Given the description of an element on the screen output the (x, y) to click on. 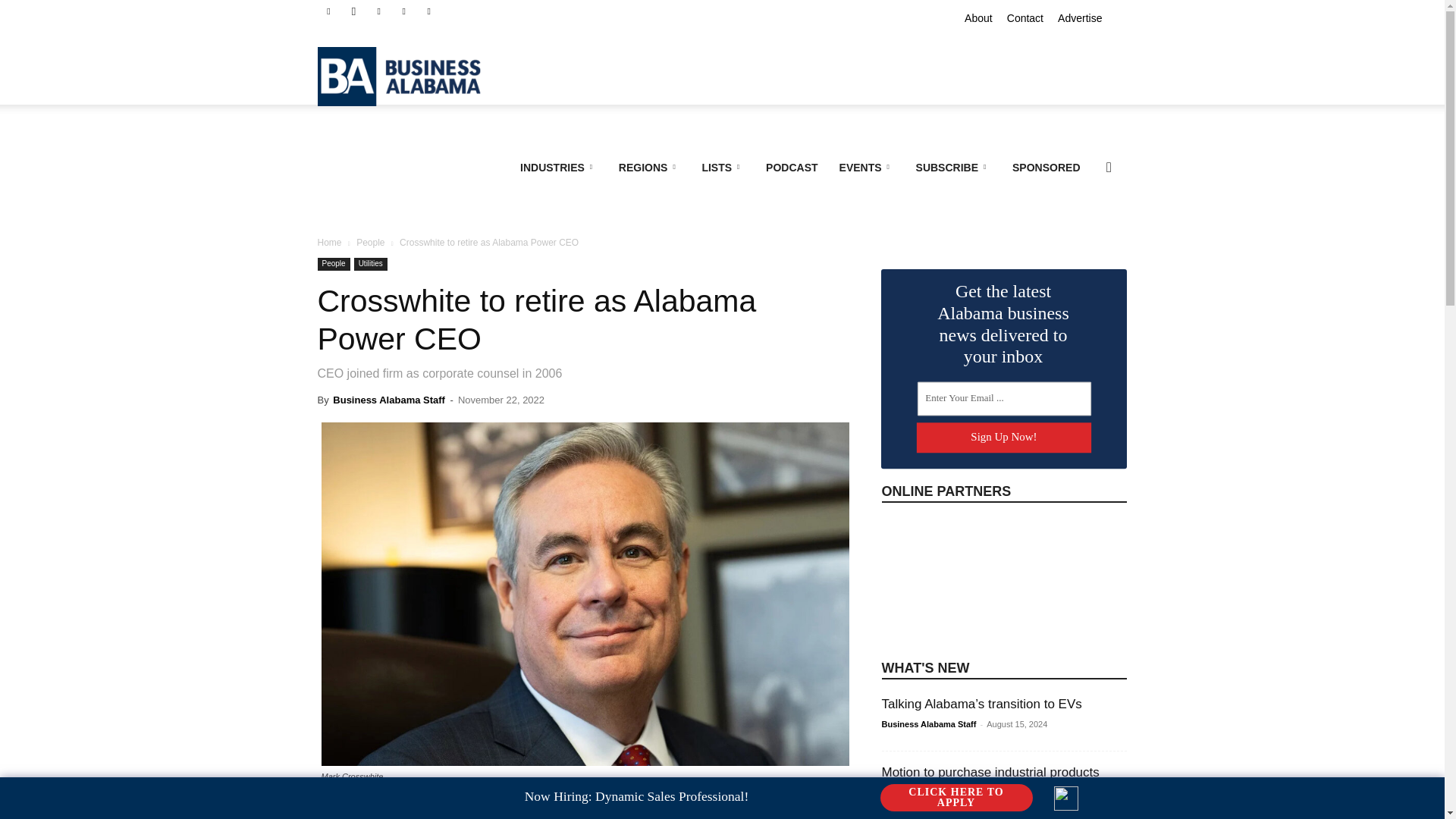
Business Alabama Magazine (406, 76)
Facebook (328, 10)
Linkedin (379, 10)
Instagram (353, 10)
Spotify (403, 10)
Twitter (429, 10)
